Given the description of an element on the screen output the (x, y) to click on. 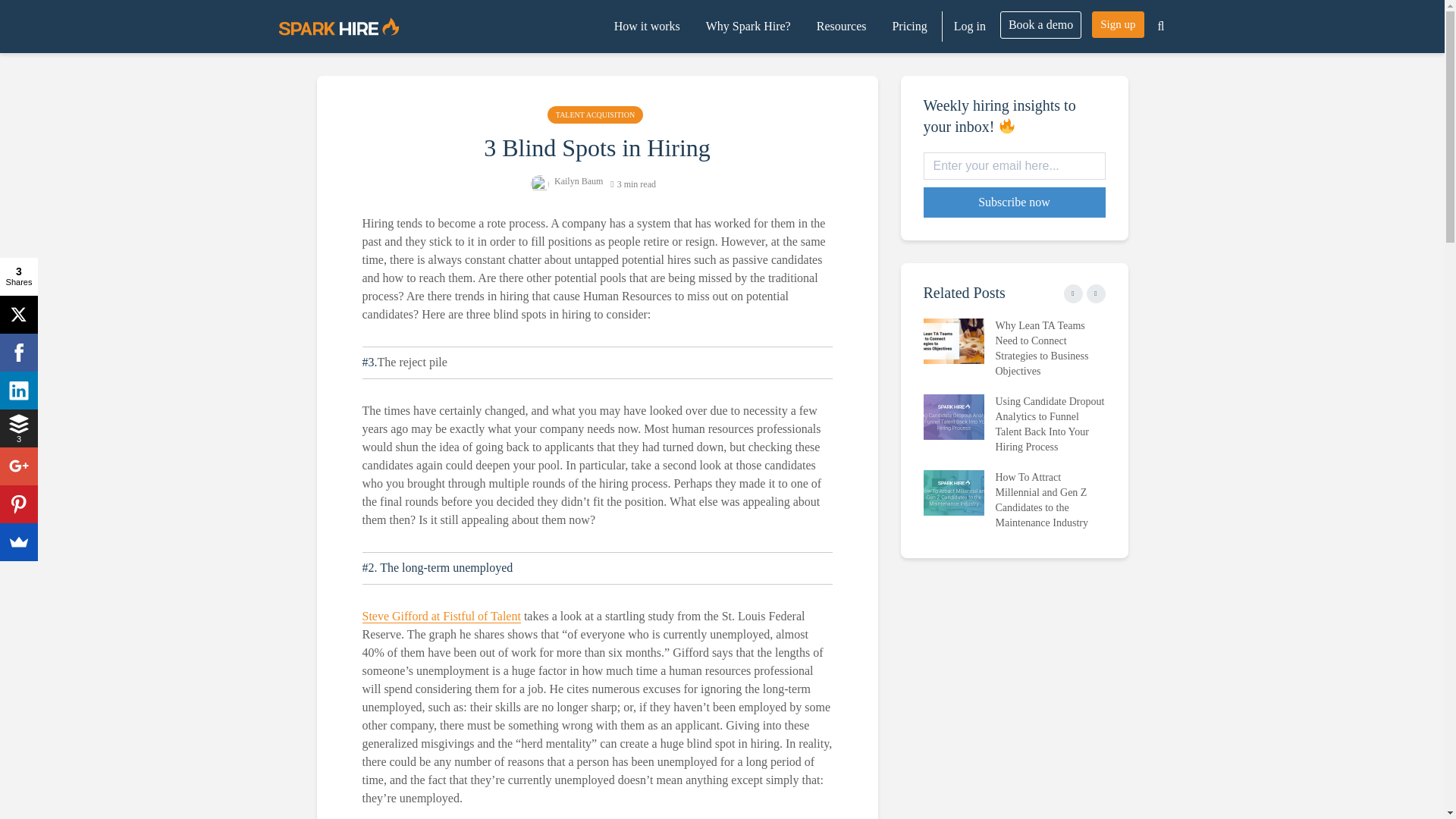
How it works (646, 26)
6 Talent Sources To Use For Future Open Roles (1135, 506)
Log in (969, 26)
TALENT ACQUISITION (595, 114)
Sign up (1117, 24)
Subscribe now (1014, 202)
Pricing (908, 26)
Kailyn Baum (566, 181)
Resources (841, 26)
Why Spark Hire? (748, 26)
Book a demo (1041, 24)
